Given the description of an element on the screen output the (x, y) to click on. 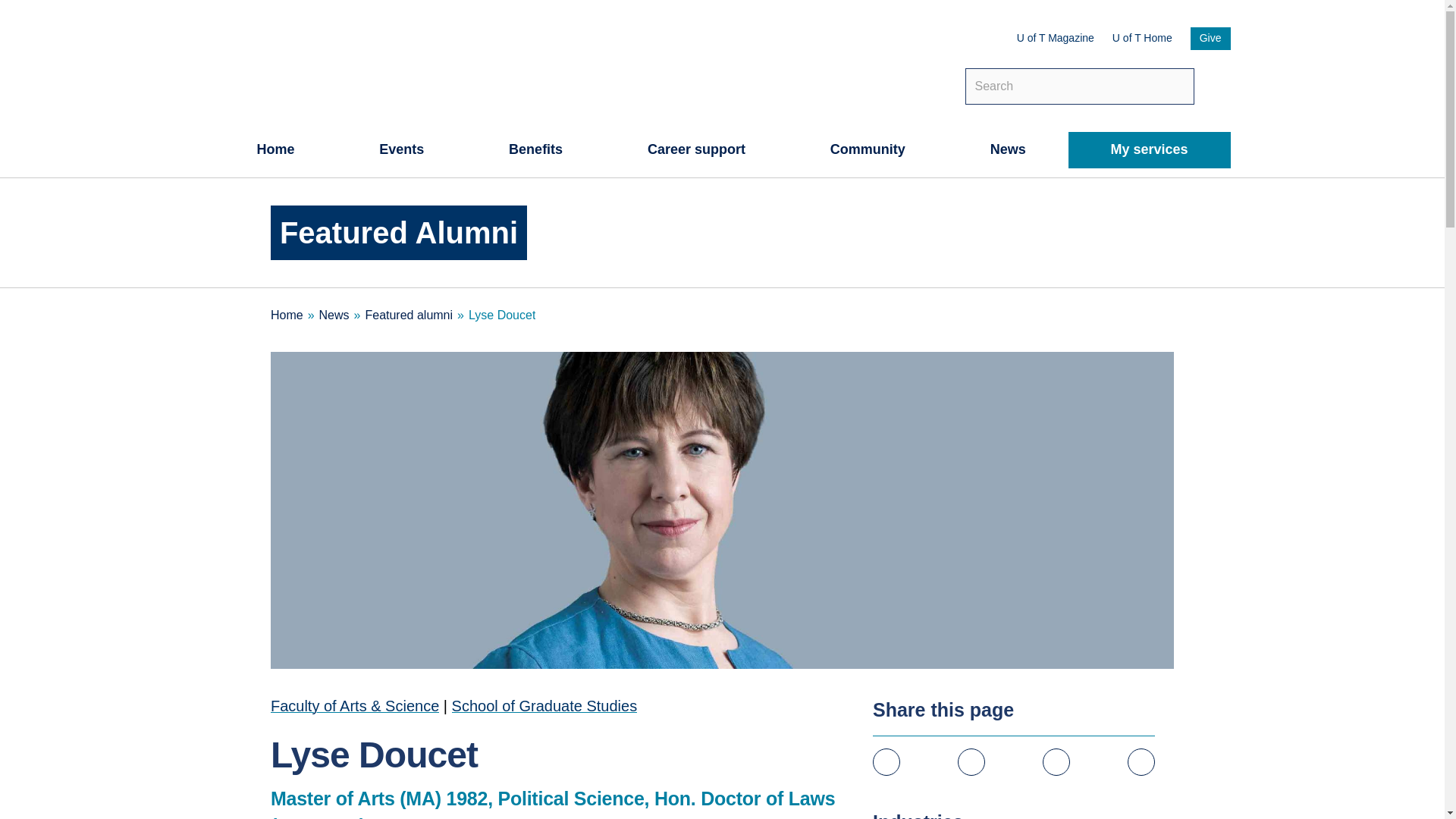
Benefits (535, 149)
Events (400, 149)
Search (1216, 81)
home (275, 149)
Give (1210, 38)
U of T Home (1141, 38)
Benefits (535, 149)
Search (1216, 81)
Skip to main content (8, 8)
Home (275, 149)
